Given the description of an element on the screen output the (x, y) to click on. 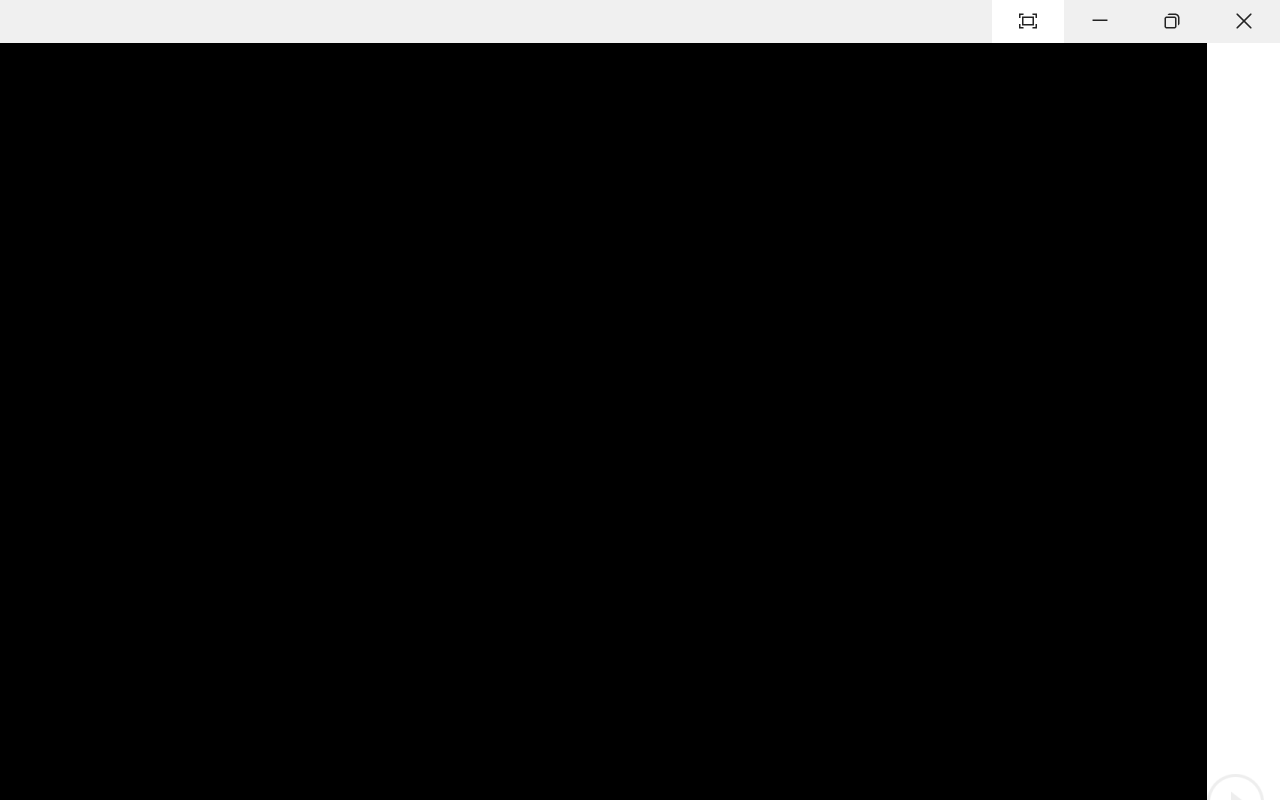
2406.12373v2.pdf (1077, 496)
Send Backward (159, 151)
Group (351, 179)
